Given the description of an element on the screen output the (x, y) to click on. 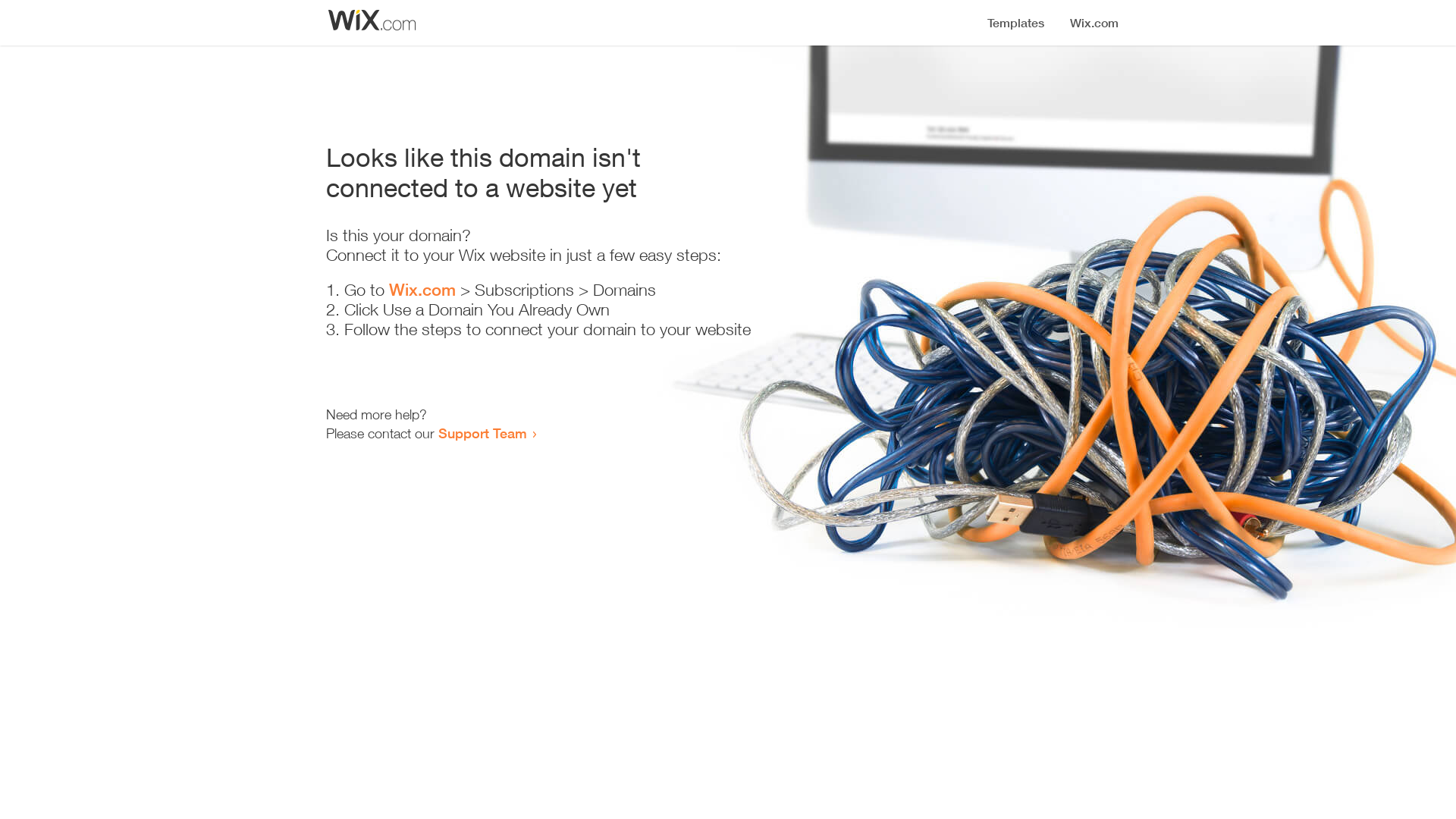
Wix.com Element type: text (422, 289)
Support Team Element type: text (482, 432)
